Given the description of an element on the screen output the (x, y) to click on. 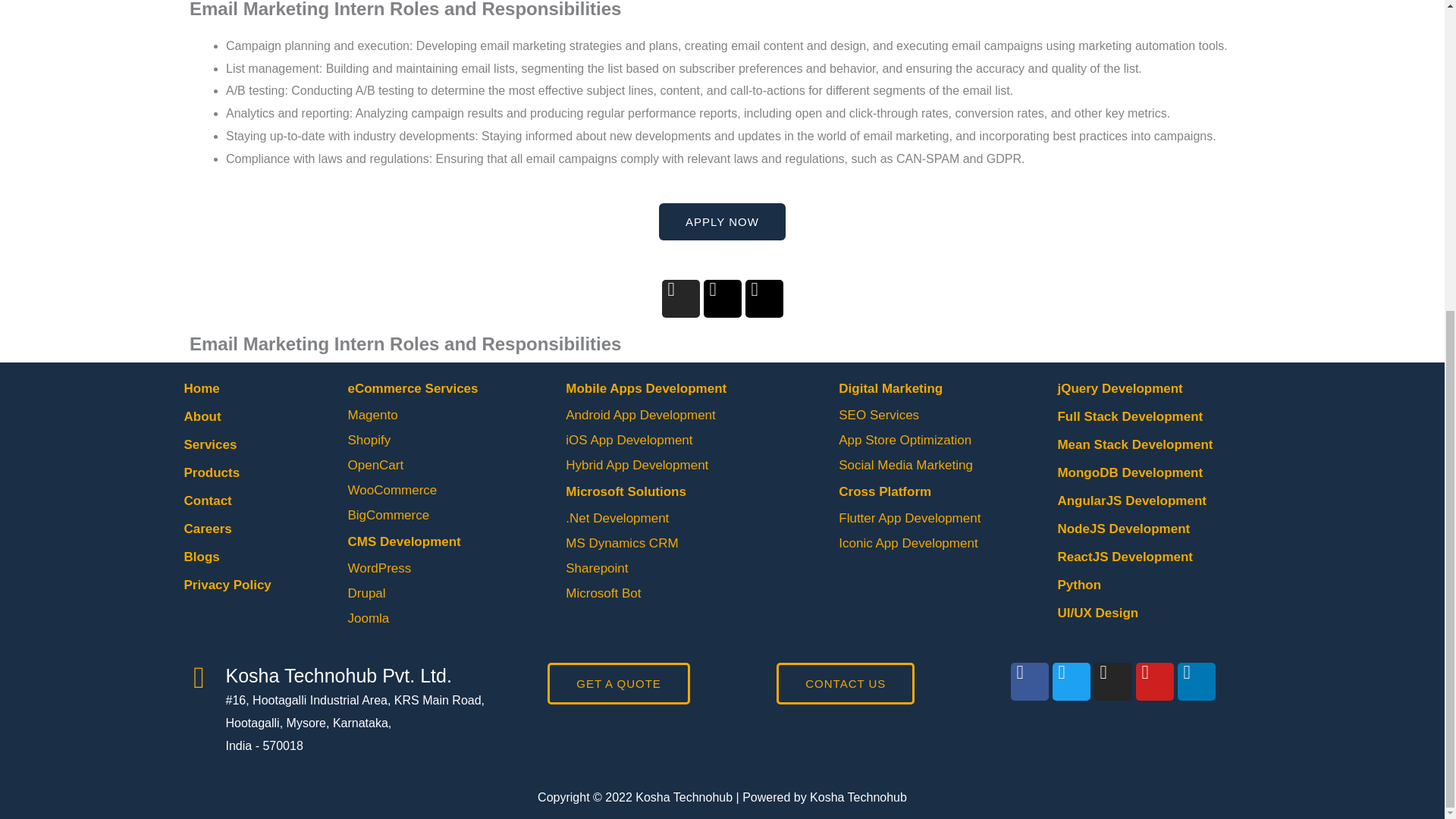
Magento (372, 414)
Services (209, 444)
eCommerce Services (412, 388)
OpenCart (375, 464)
Privacy Policy (226, 585)
APPLY NOW (722, 221)
Shopify (368, 440)
Drupal (366, 593)
WooCommerce (391, 490)
Home (201, 388)
Joomla (367, 617)
CMS Development (403, 541)
Blogs (201, 556)
WordPress (378, 568)
BigCommerce (388, 514)
